Given the description of an element on the screen output the (x, y) to click on. 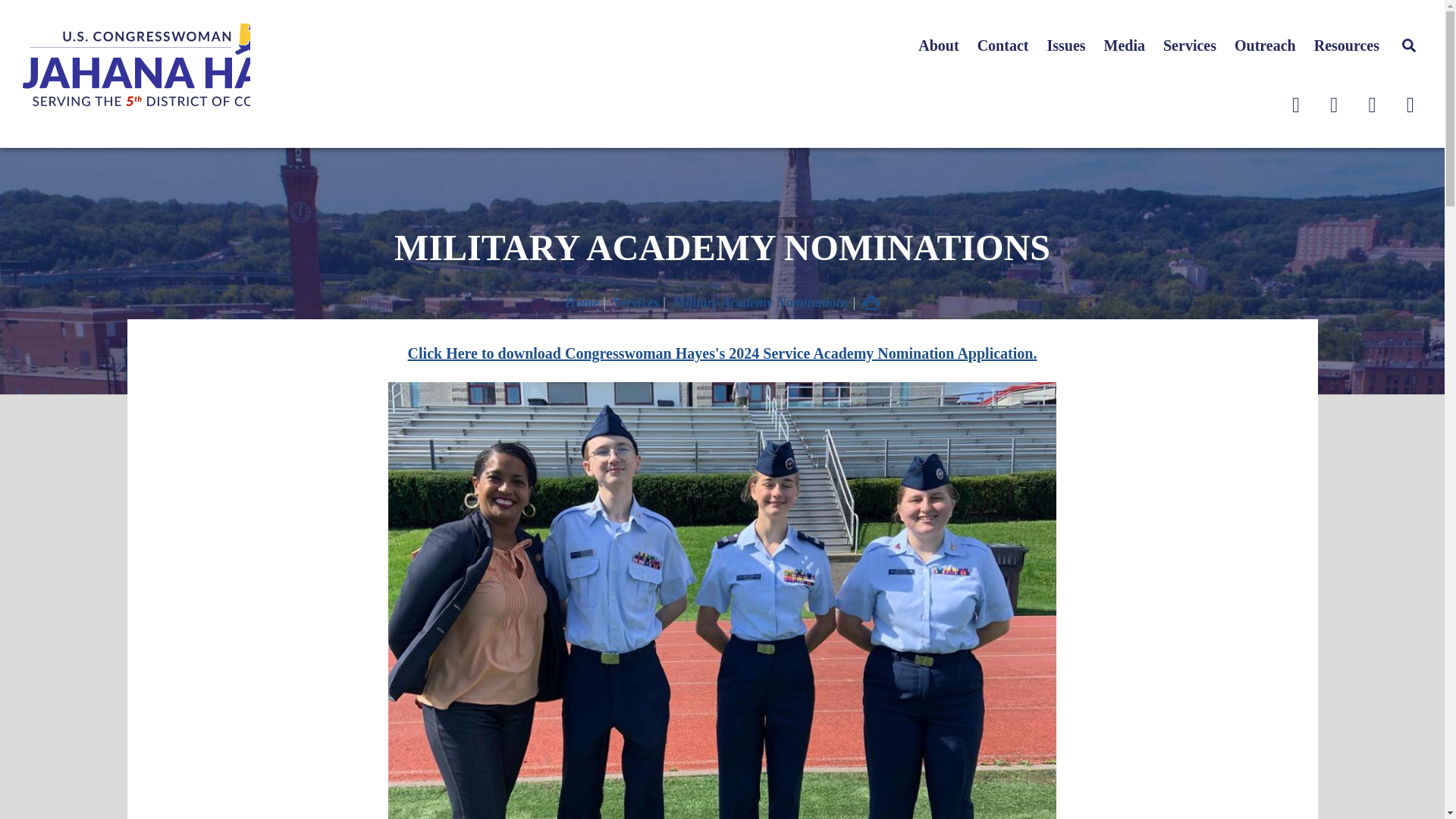
CONGRESSWOMAN JAHANA HAYES (136, 64)
Print Page (871, 302)
Media (1124, 45)
About (938, 45)
Services (1189, 45)
Issues (1065, 45)
Contact (1003, 45)
